Given the description of an element on the screen output the (x, y) to click on. 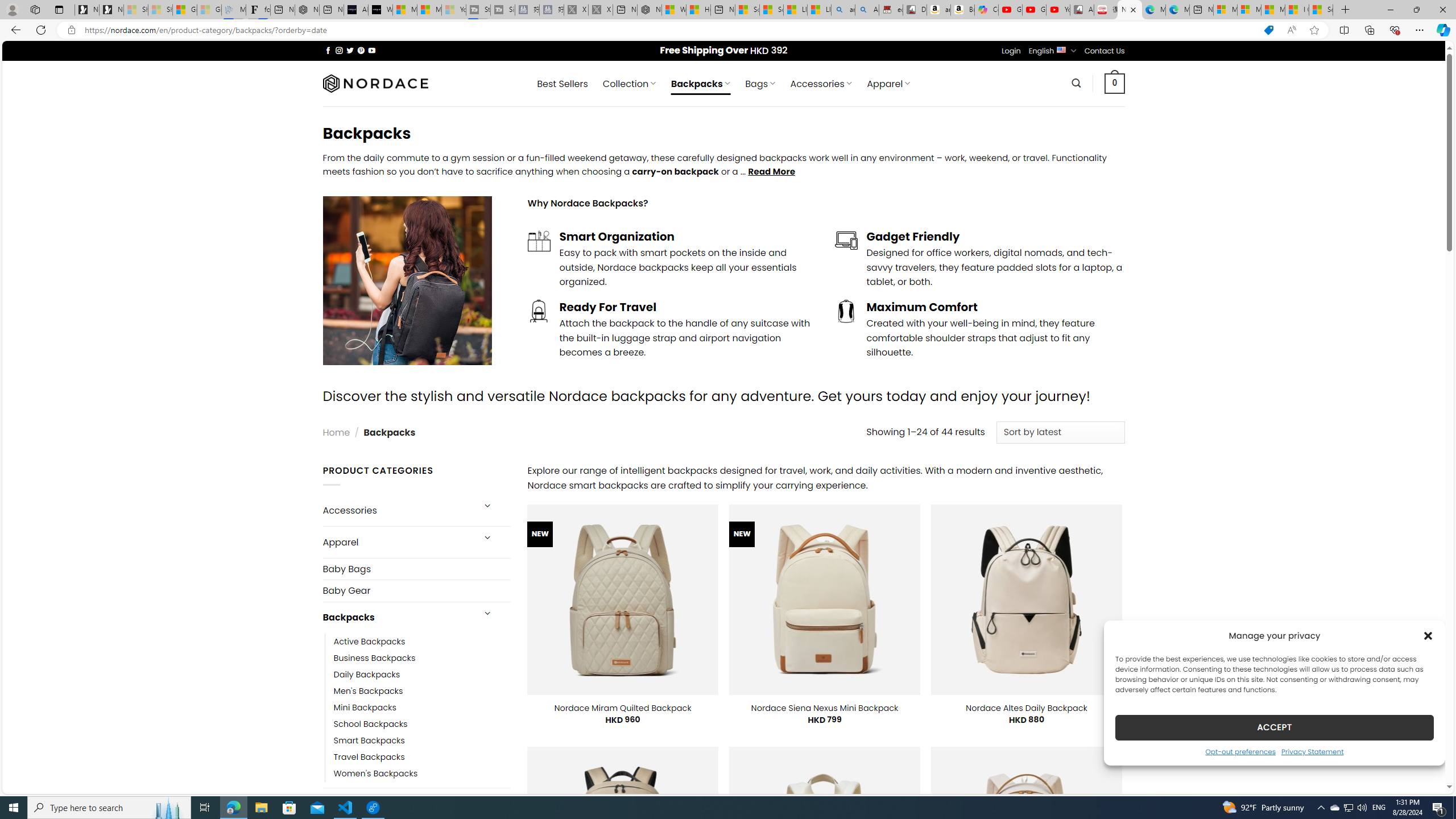
Men's Backpacks (422, 690)
amazon - Search (843, 9)
Apparel (397, 542)
YouTube Kids - An App Created for Kids to Explore Content (1057, 9)
Address and search bar (669, 29)
Nordace - Backpacks (1129, 9)
Copilot (986, 9)
Class: cmplz-close (1428, 635)
Amazon Echo Dot PNG - Search Images (866, 9)
